Given the description of an element on the screen output the (x, y) to click on. 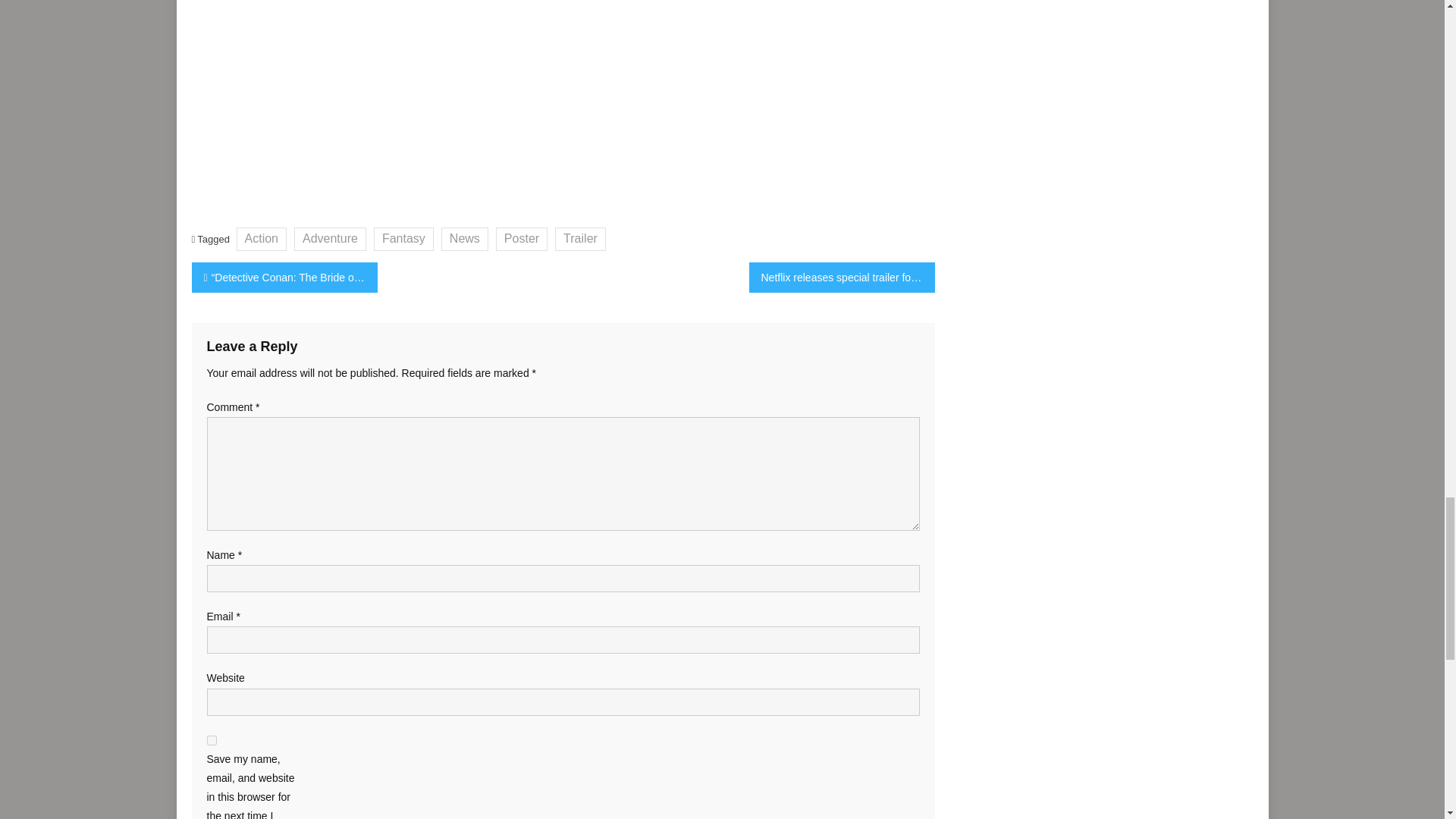
News (464, 238)
Netflix releases special trailer for new 2022 Super Bowl (841, 277)
Adventure (330, 238)
Fantasy (403, 238)
yes (210, 740)
Trailer (579, 238)
Action (260, 238)
Poster (521, 238)
